Given the description of an element on the screen output the (x, y) to click on. 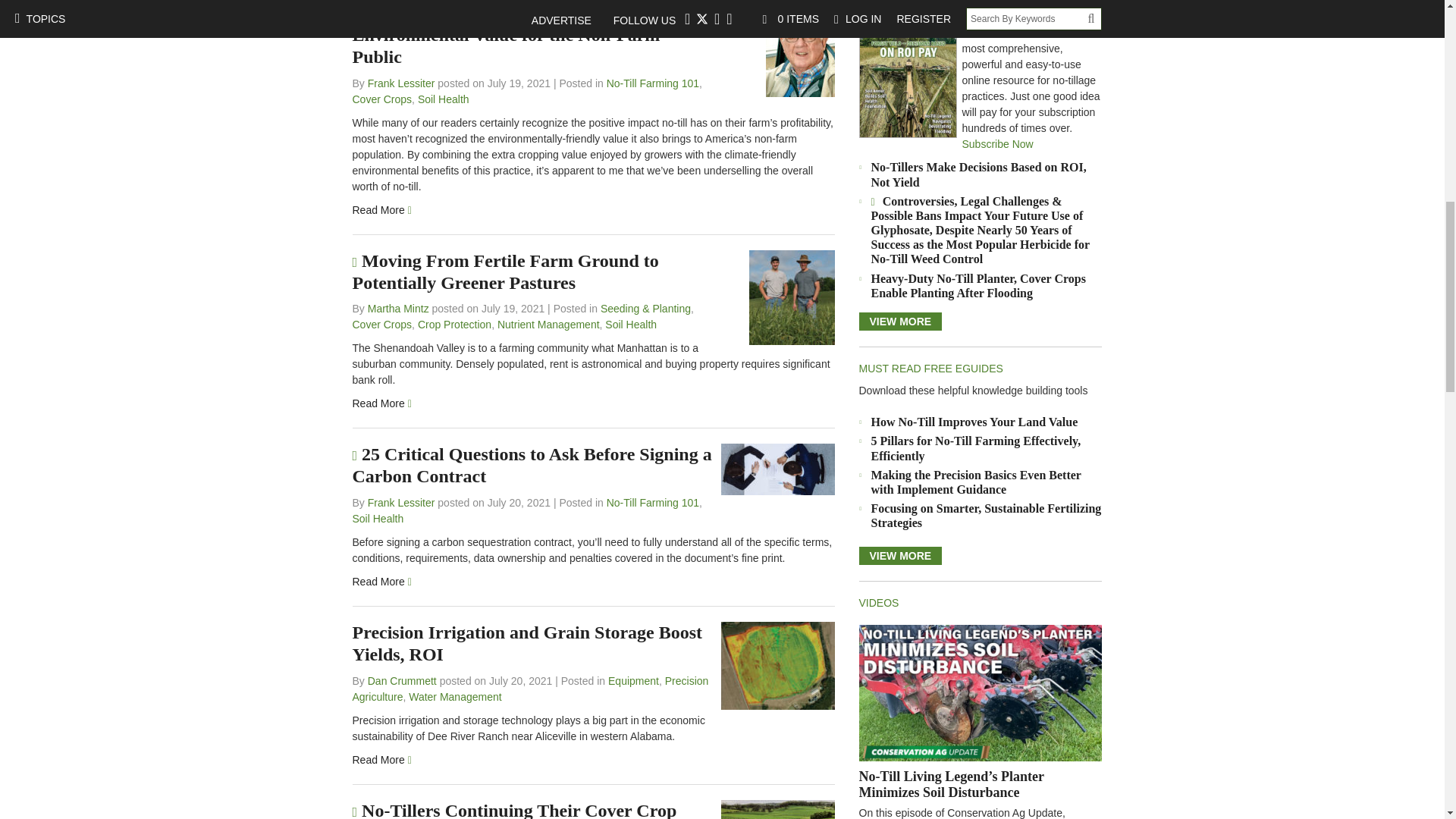
Logan-and-Anthony-Beery.jpg (791, 297)
